Given the description of an element on the screen output the (x, y) to click on. 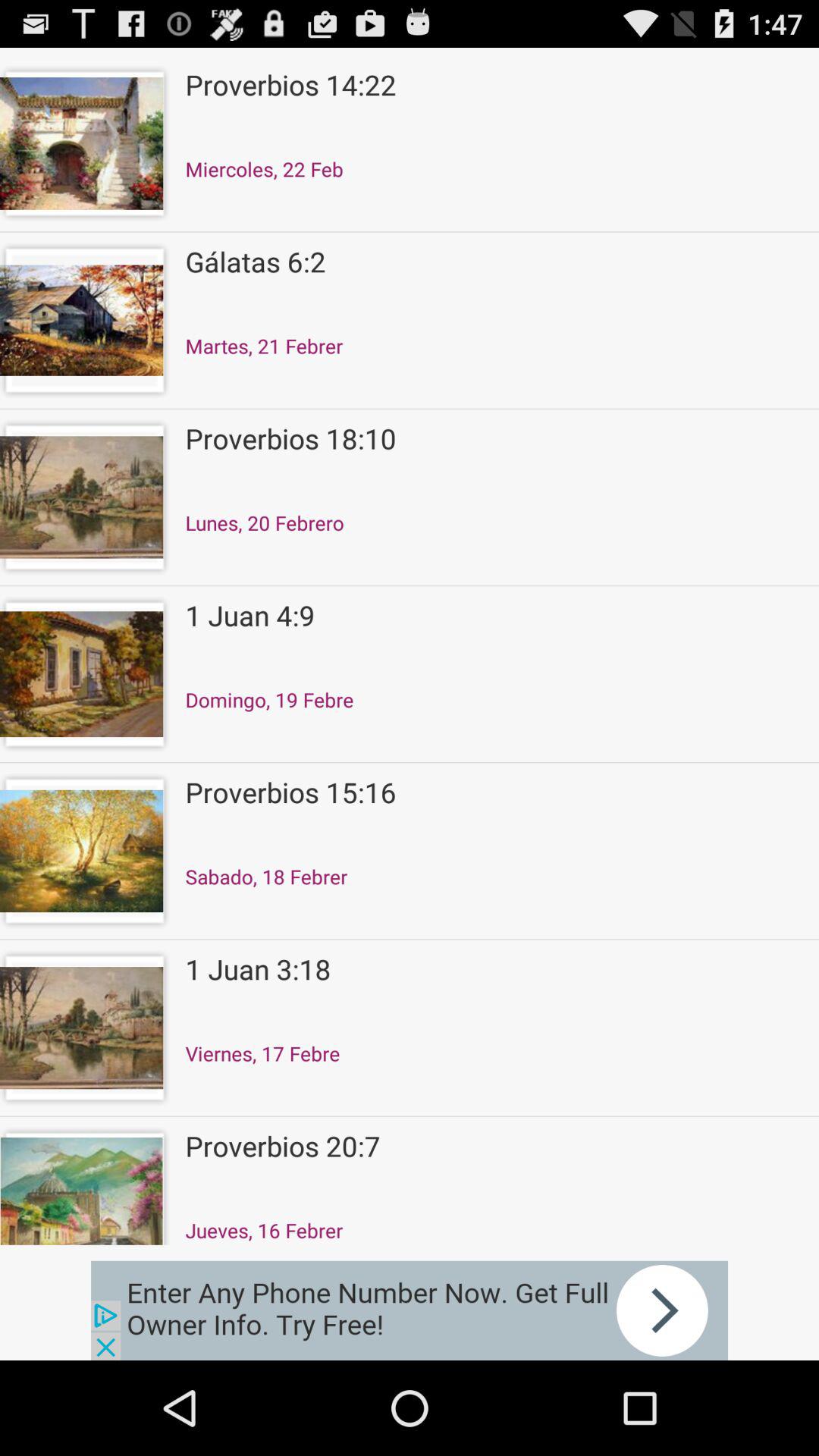
advertisement link (409, 1310)
